Given the description of an element on the screen output the (x, y) to click on. 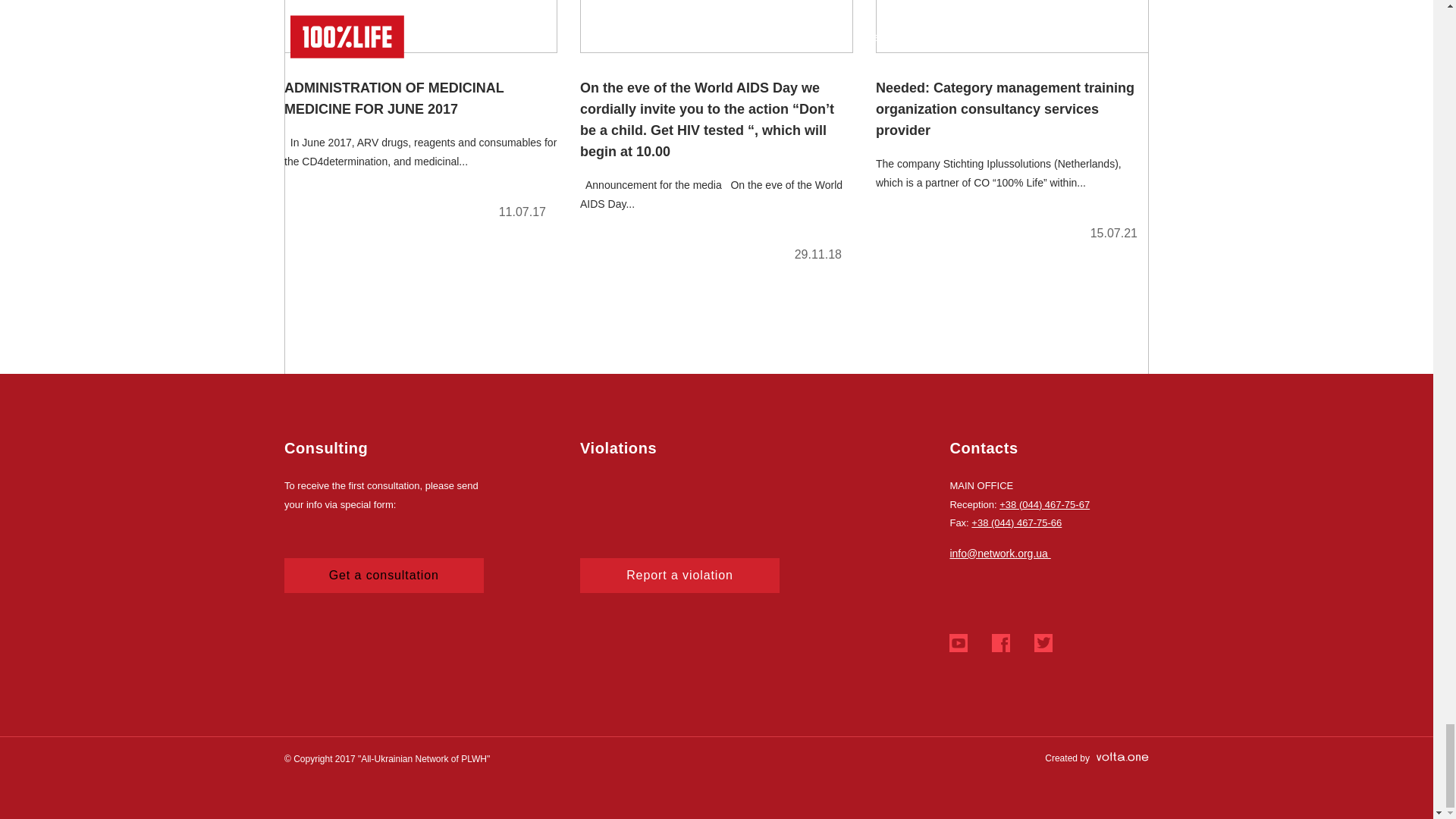
Get a consultation (383, 574)
ADMINISTRATION OF MEDICINAL MEDICINE FOR JUNE 2017 (420, 116)
Created by (1096, 757)
Report a violation (678, 574)
Report a violation (678, 574)
Get a consultation (383, 574)
